Given the description of an element on the screen output the (x, y) to click on. 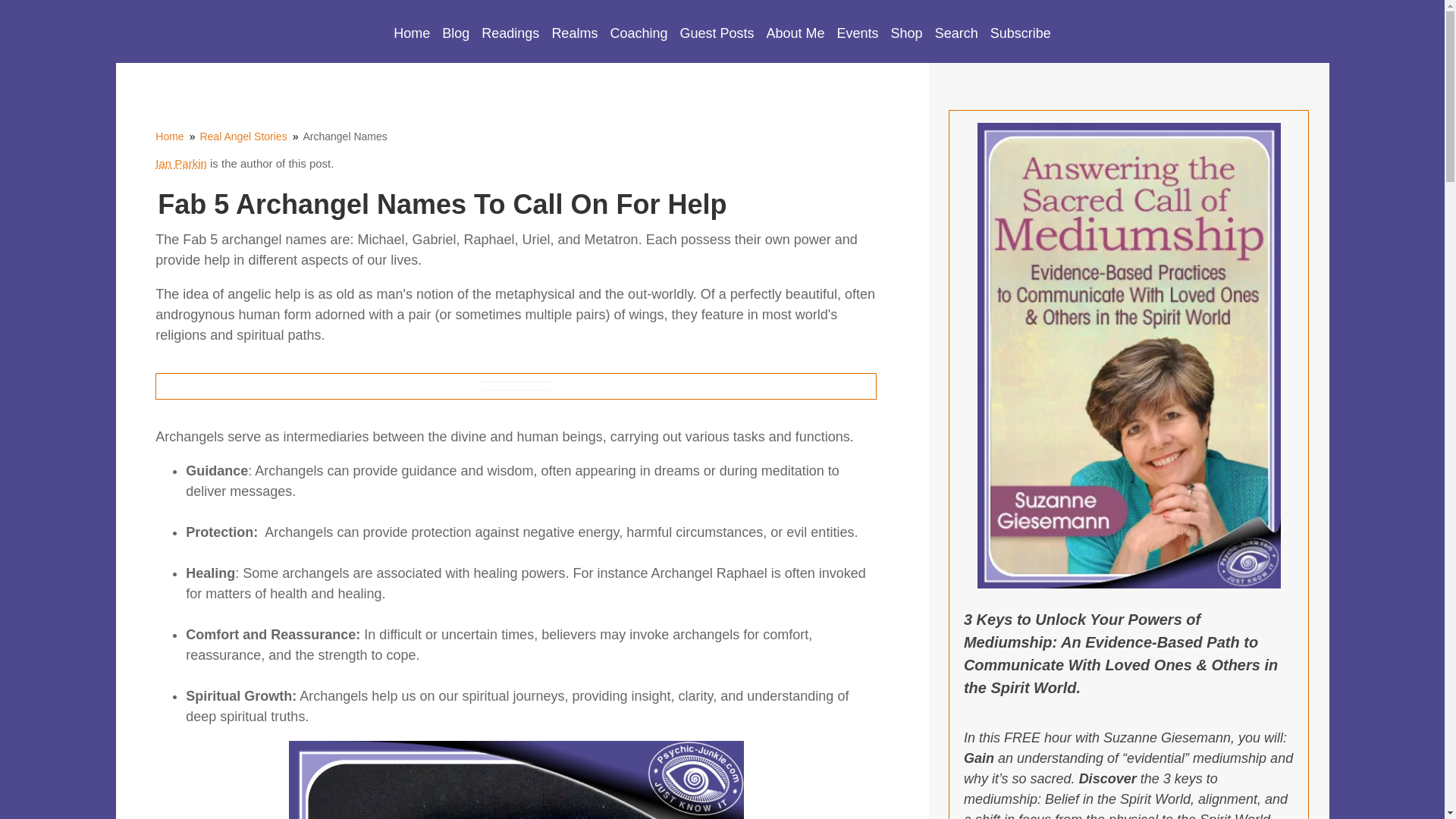
Home (411, 32)
Go to When The Sacred Call Of Mediumship Beckons You (1127, 583)
Blog (455, 32)
